Given the description of an element on the screen output the (x, y) to click on. 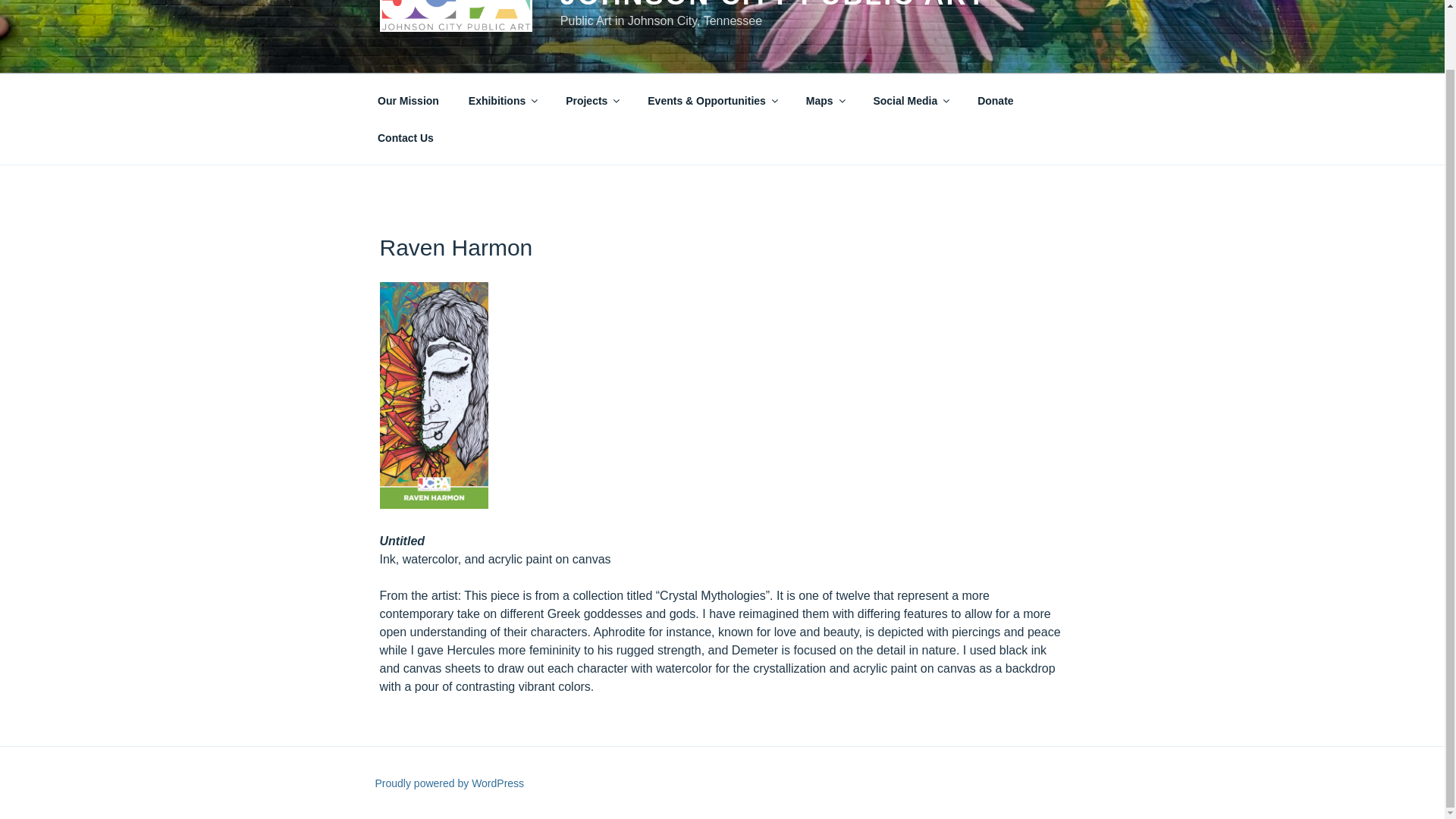
JOHNSON CITY PUBLIC ART (773, 5)
Our Mission (407, 99)
Projects (592, 99)
Exhibitions (501, 99)
